Given the description of an element on the screen output the (x, y) to click on. 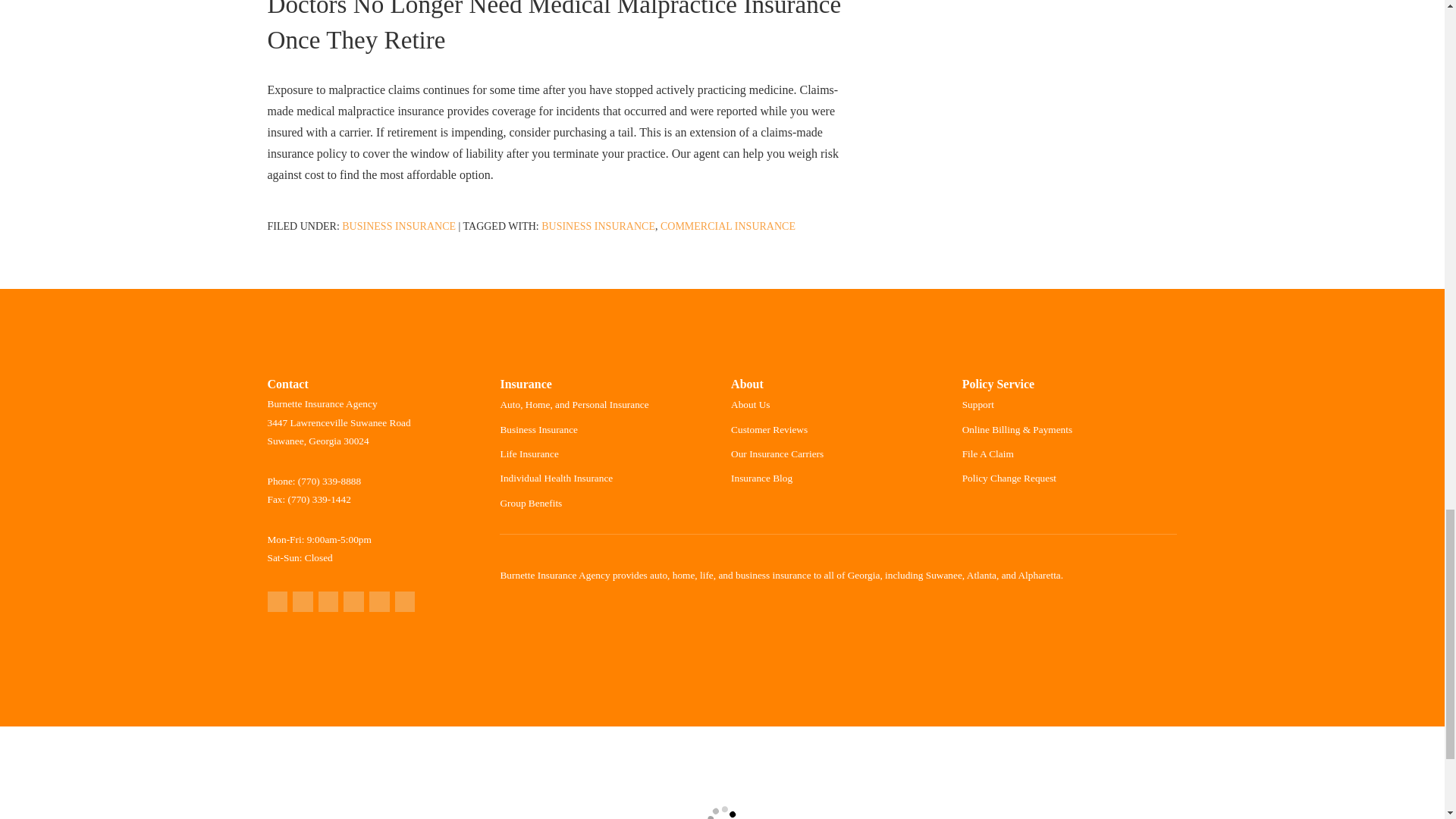
Facebook (328, 601)
Business Insurance (598, 225)
LinkedIn (379, 601)
X (353, 601)
Business Insurance (398, 225)
Google Maps (276, 601)
Yelp (302, 601)
YouTube (404, 601)
Commercial Insurance (727, 225)
